Given the description of an element on the screen output the (x, y) to click on. 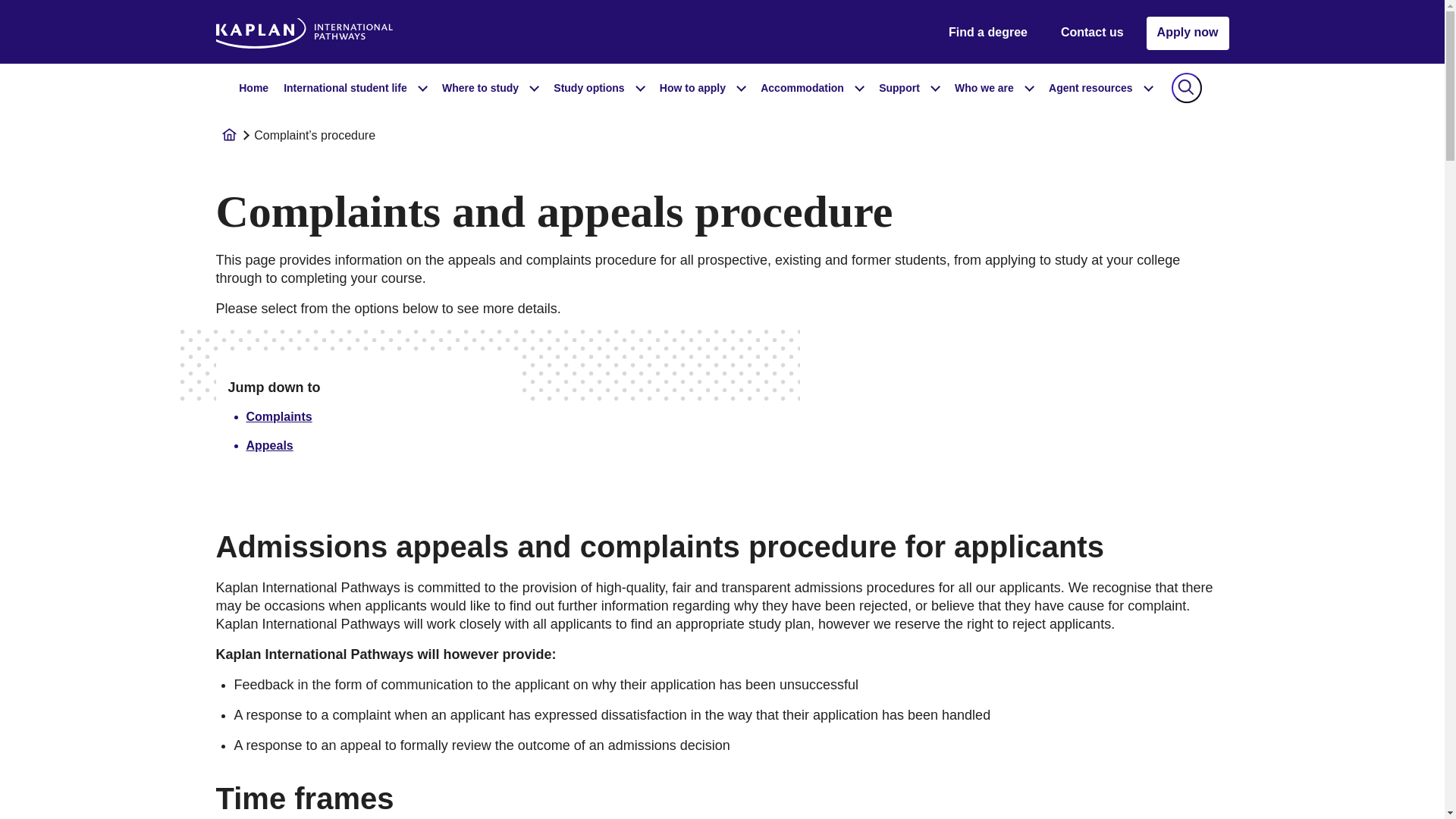
Contact us (1091, 32)
How to apply (702, 87)
Support (908, 87)
Complaints (278, 416)
Study options (599, 87)
Apply now (1187, 32)
Kaplan International Pathways (313, 33)
International student life (354, 87)
Who we are (994, 87)
Accommodation (811, 87)
Appeals (269, 445)
Where to study (489, 87)
Home (253, 87)
Agent resources (1100, 87)
Find a degree (987, 32)
